Given the description of an element on the screen output the (x, y) to click on. 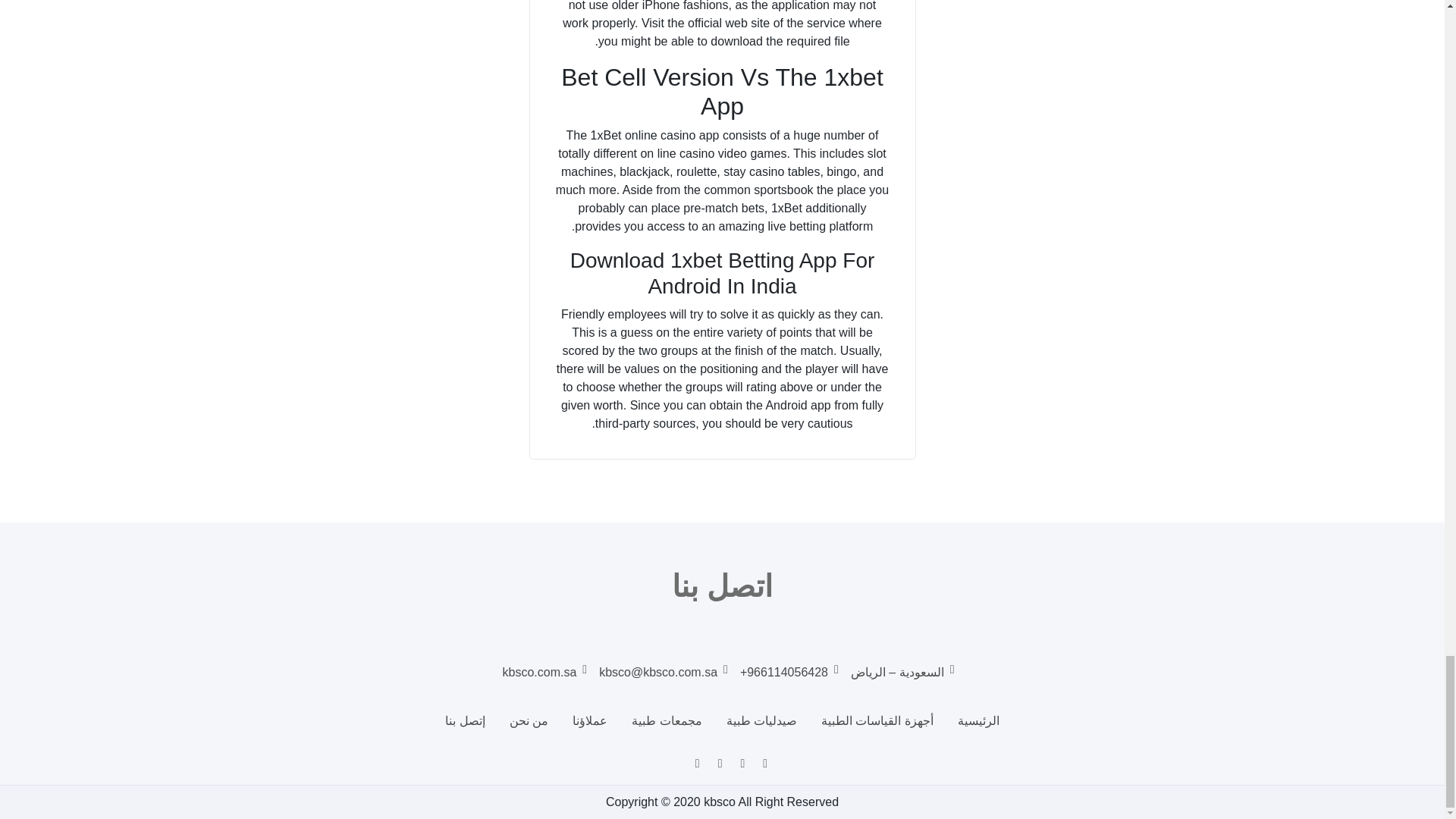
kbsco.com.sa (545, 678)
